Given the description of an element on the screen output the (x, y) to click on. 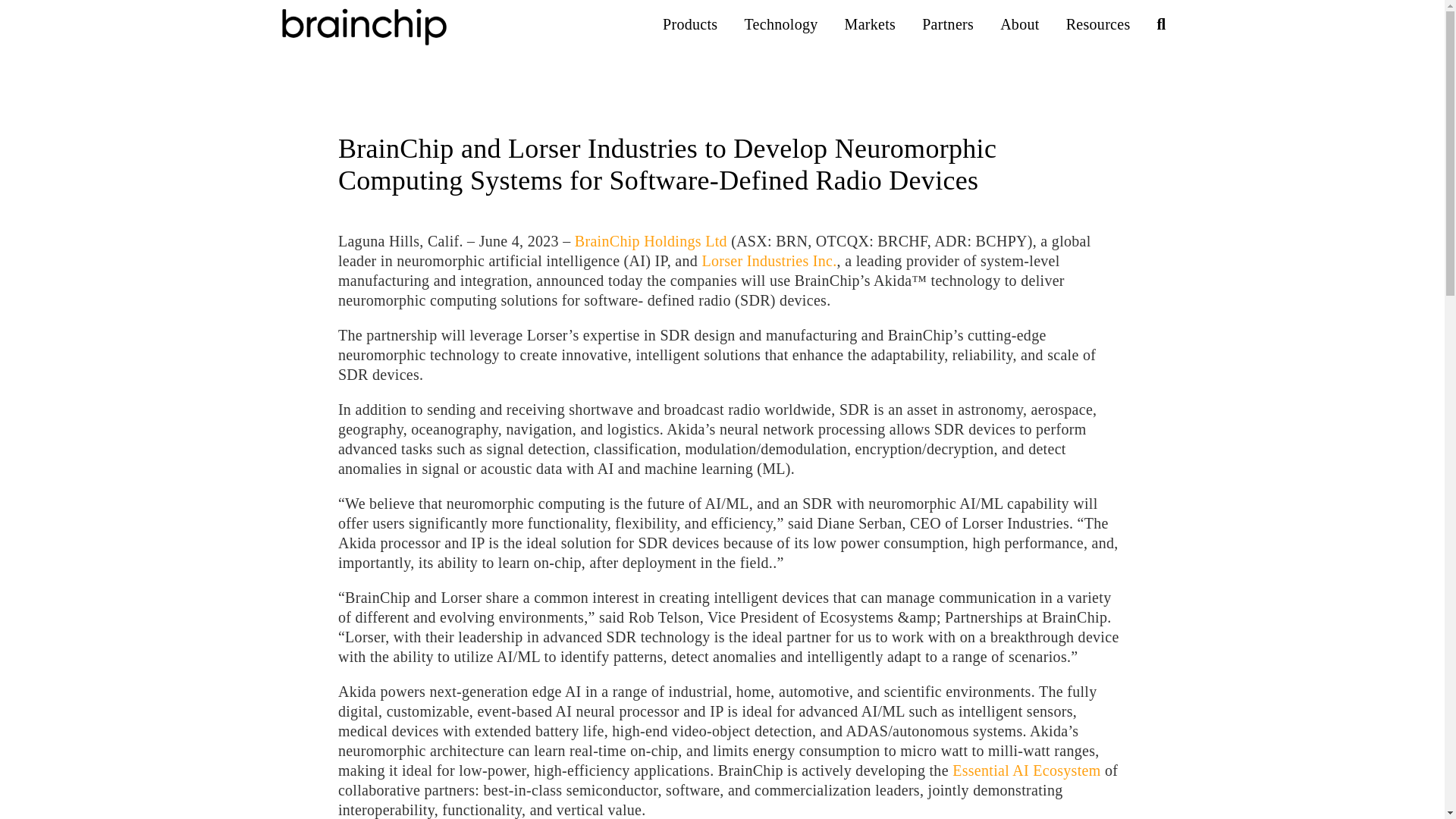
Markets (870, 24)
Resources (1098, 24)
Partners (947, 24)
Technology (780, 24)
Products (689, 24)
